Given the description of an element on the screen output the (x, y) to click on. 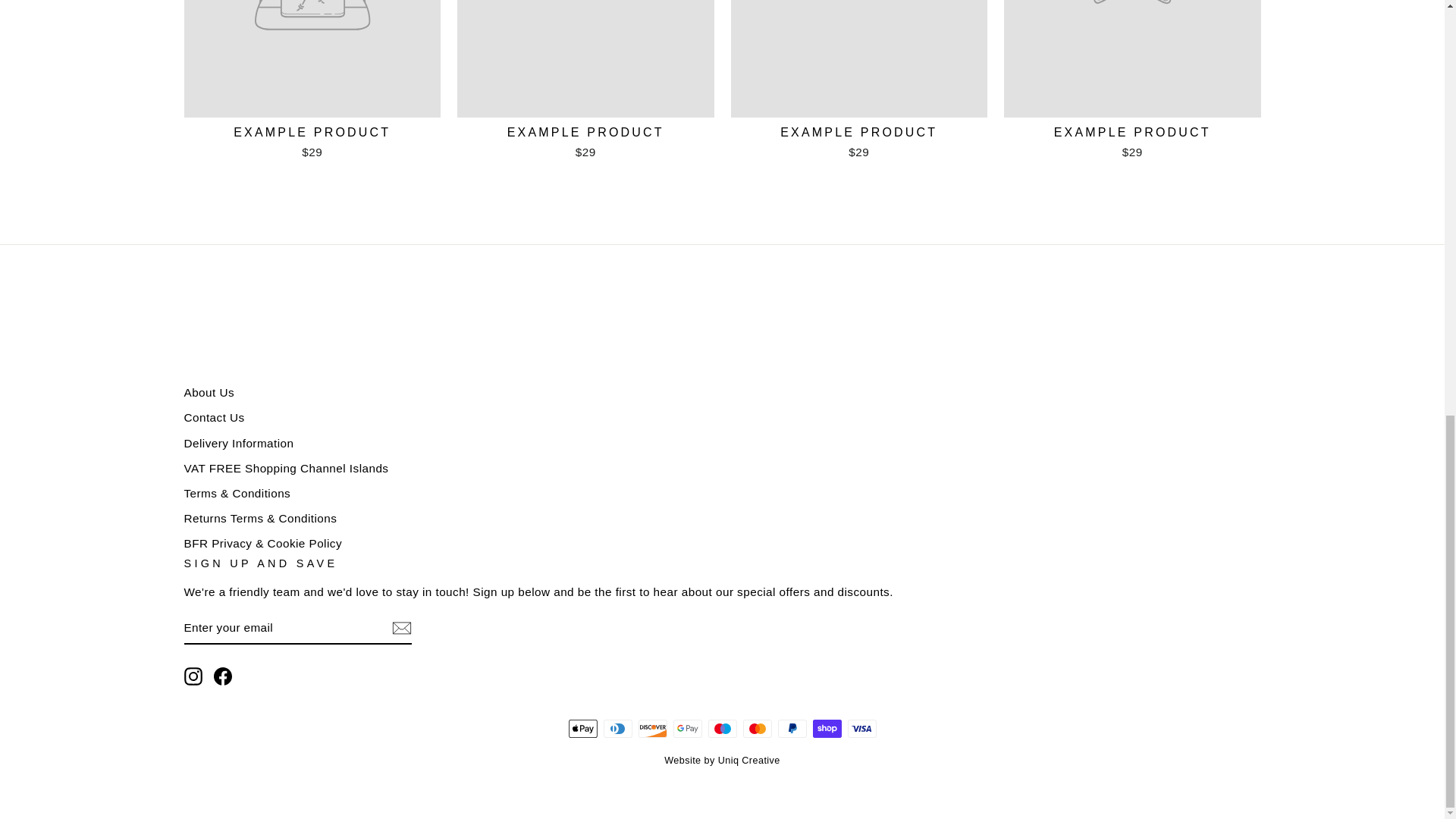
instagram (192, 676)
Diners Club (617, 728)
icon-email (400, 628)
Apple Pay (582, 728)
